Given the description of an element on the screen output the (x, y) to click on. 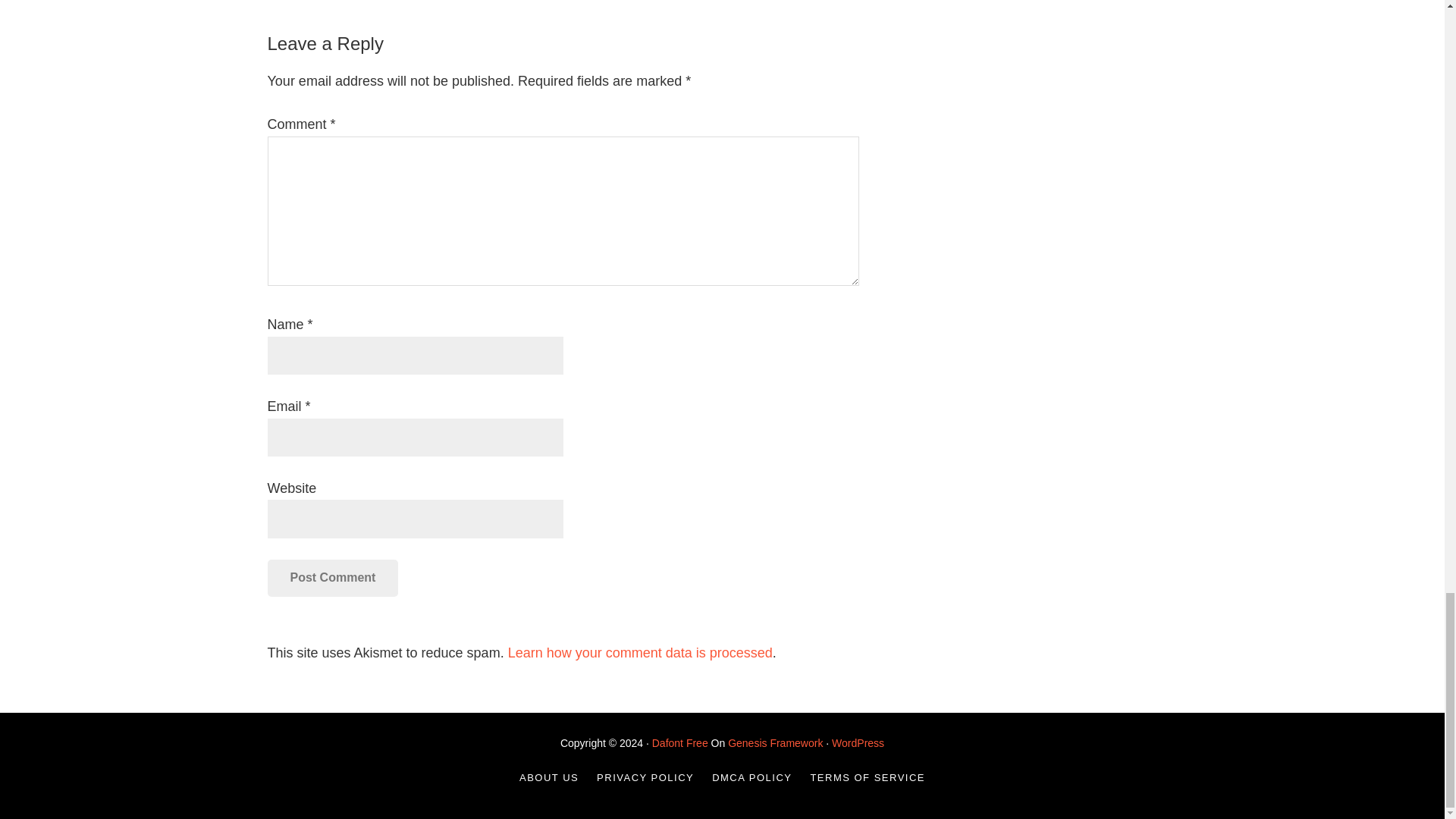
Post Comment (331, 577)
Learn how your comment data is processed (640, 652)
Post Comment (331, 577)
